Given the description of an element on the screen output the (x, y) to click on. 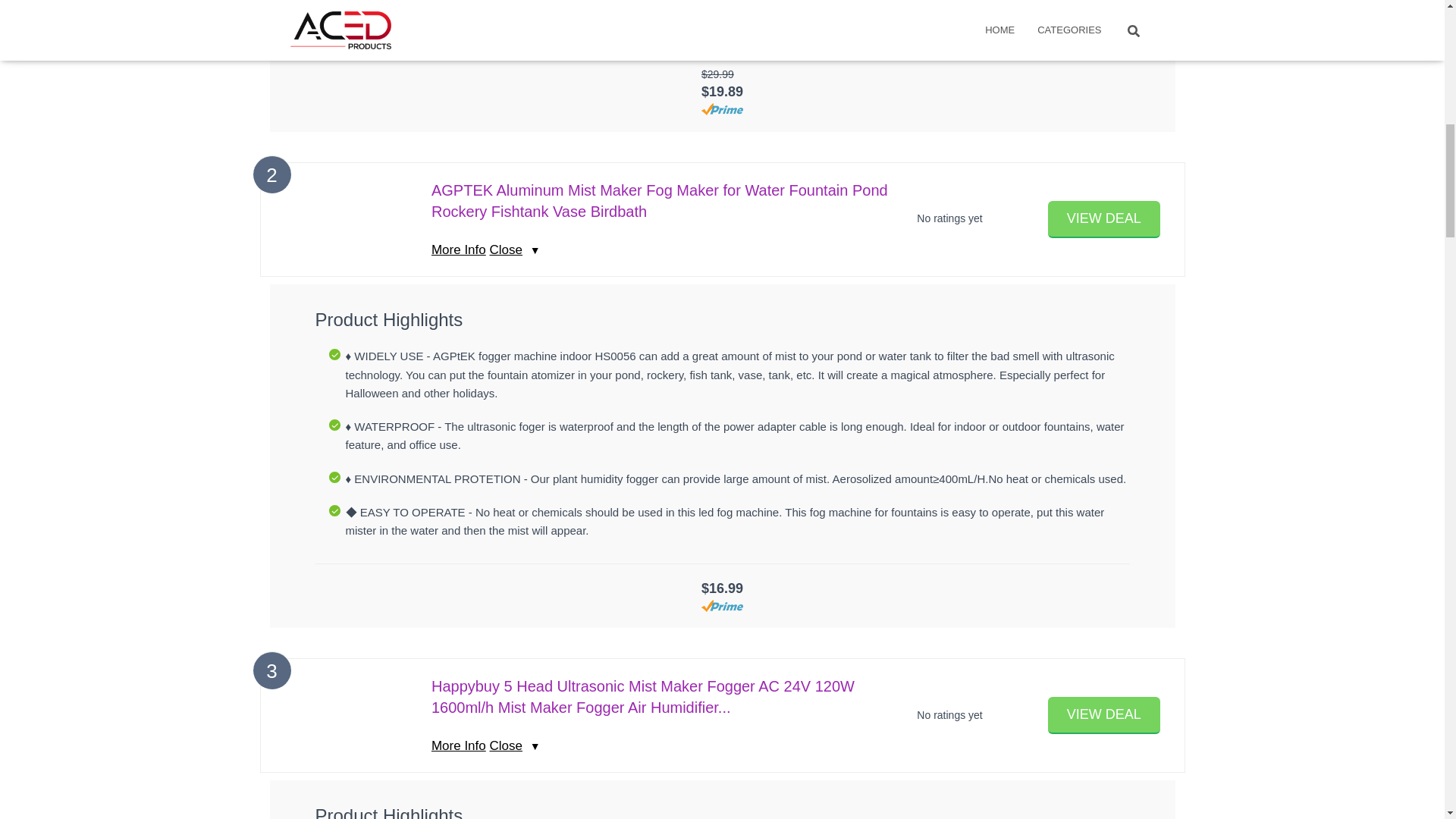
Amazon Prime (721, 109)
VIEW DEAL (1104, 219)
Amazon Prime (721, 605)
VIEW DEAL (1104, 219)
VIEW DEAL (1104, 714)
VIEW DEAL (1104, 714)
